Given the description of an element on the screen output the (x, y) to click on. 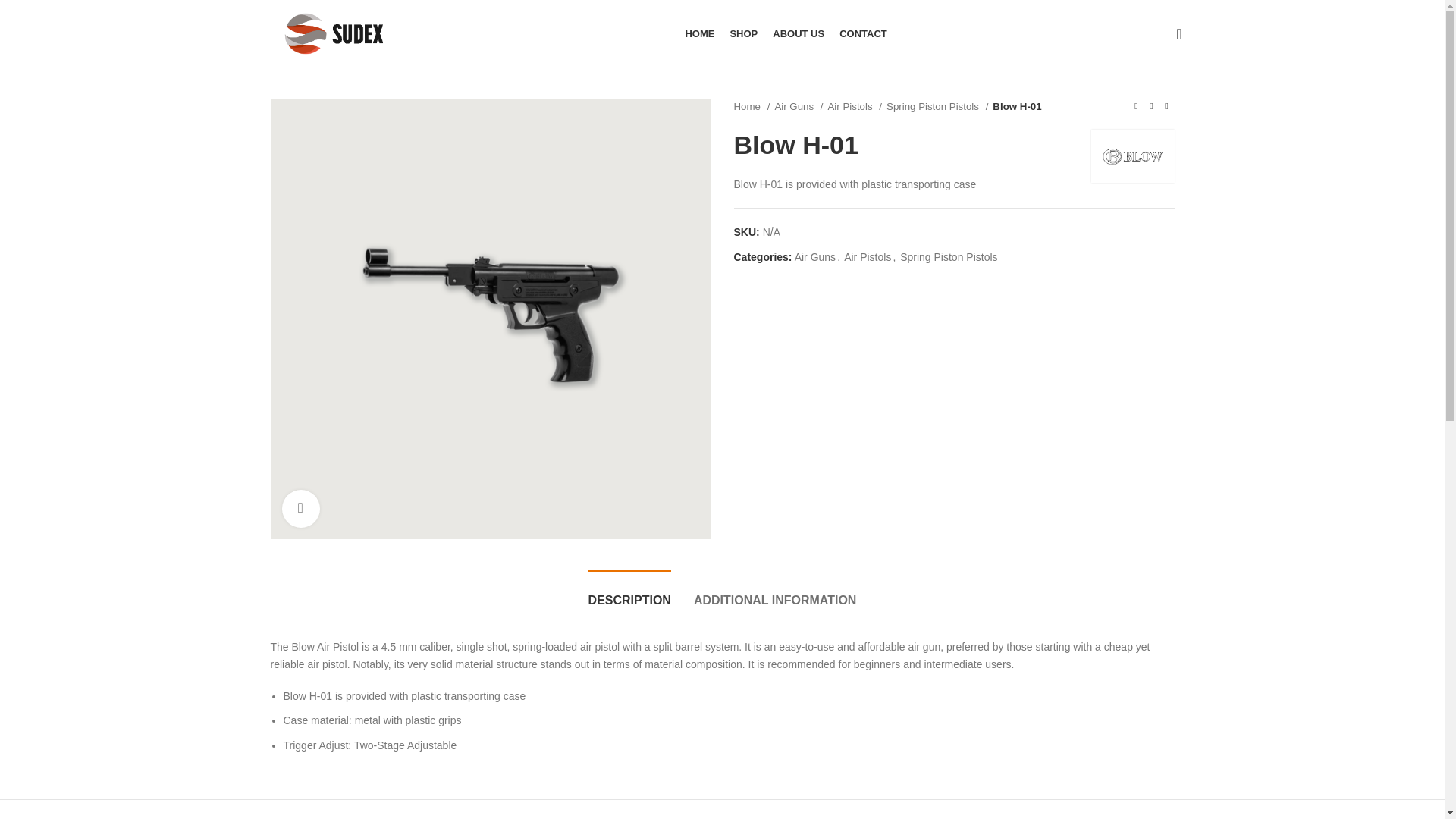
Home (751, 106)
Spring Piston Pistols (948, 256)
HOME (699, 33)
CONTACT (863, 33)
DESCRIPTION (629, 592)
Air Guns (814, 256)
SHOP (743, 33)
Blow (1131, 156)
ABOUT US (798, 33)
Air Pistols (867, 256)
